Given the description of an element on the screen output the (x, y) to click on. 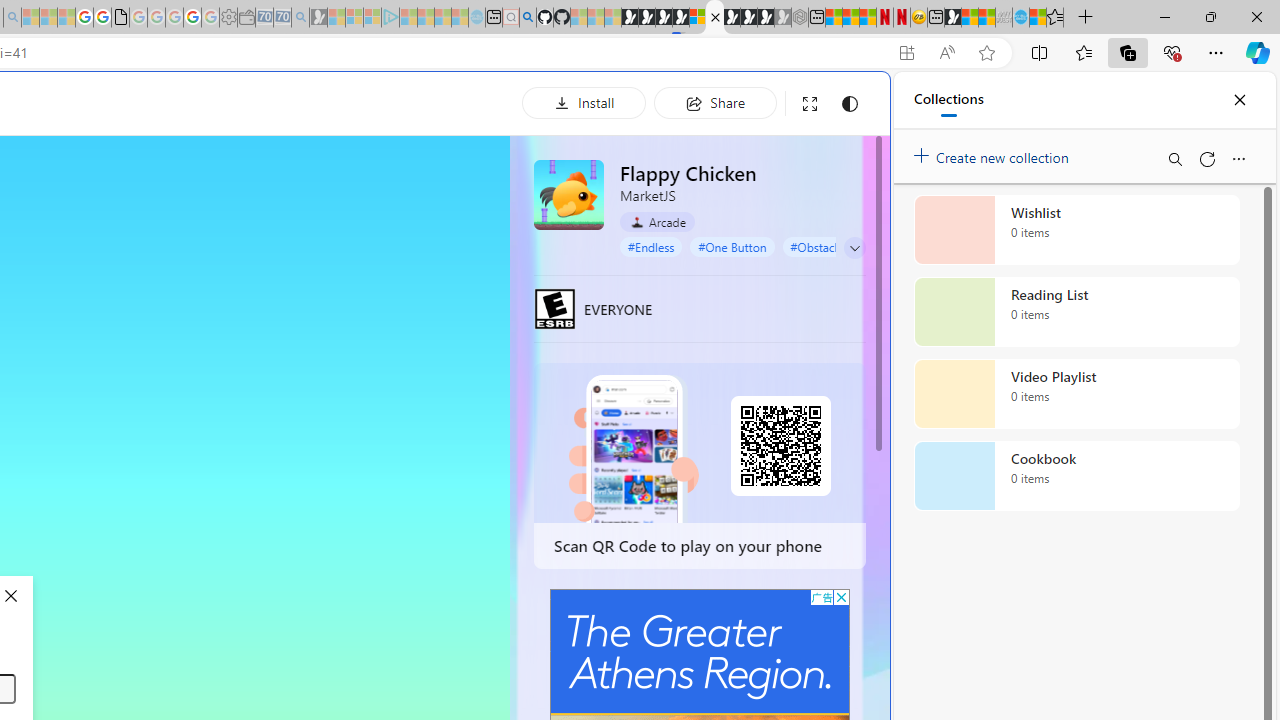
Install (583, 102)
